Given the description of an element on the screen output the (x, y) to click on. 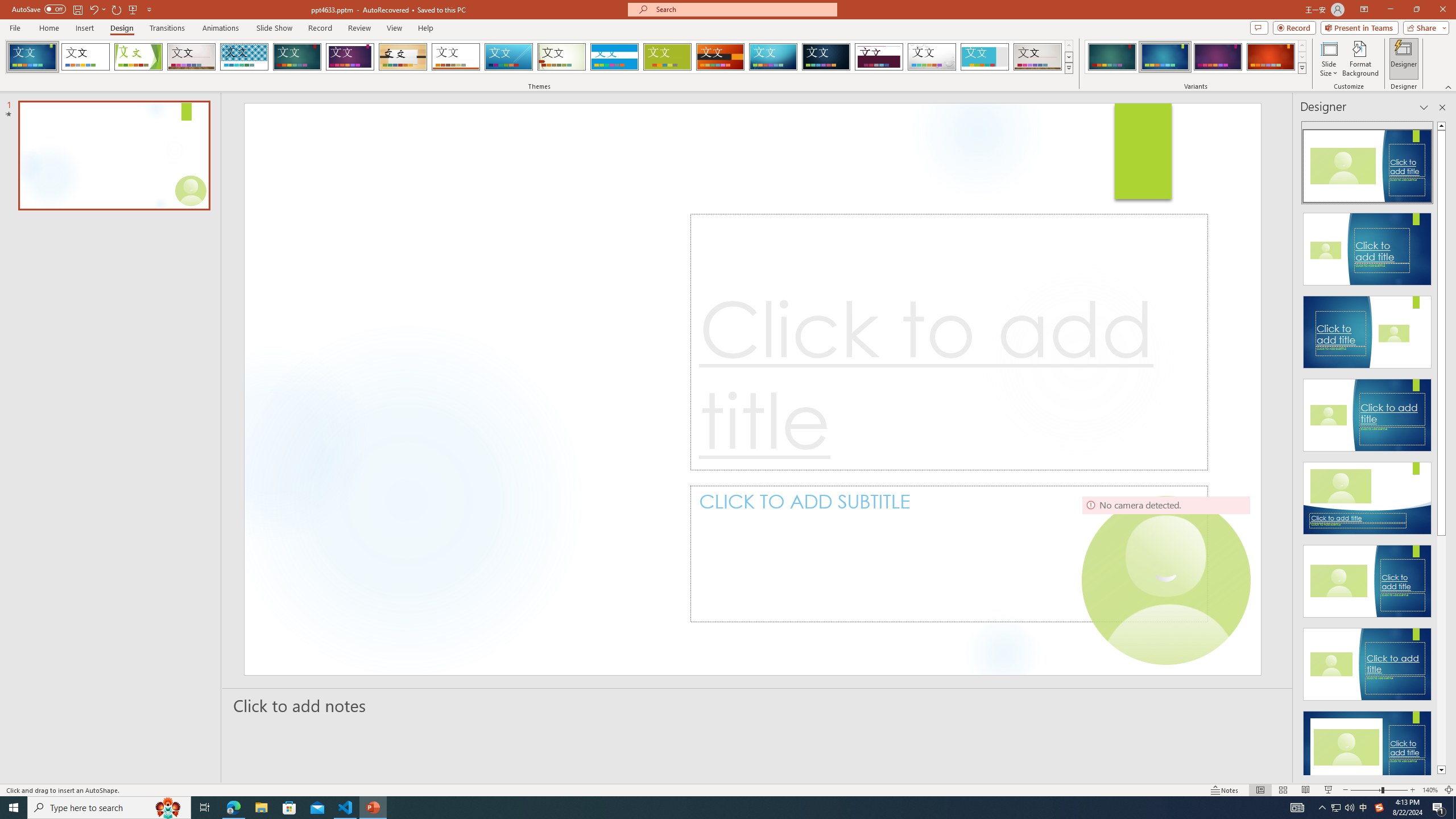
Wisp Loading Preview... (561, 56)
Ion Variant 3 (1217, 56)
Retrospect Loading Preview... (455, 56)
AutomationID: ThemeVariantsGallery (1195, 56)
